Given the description of an element on the screen output the (x, y) to click on. 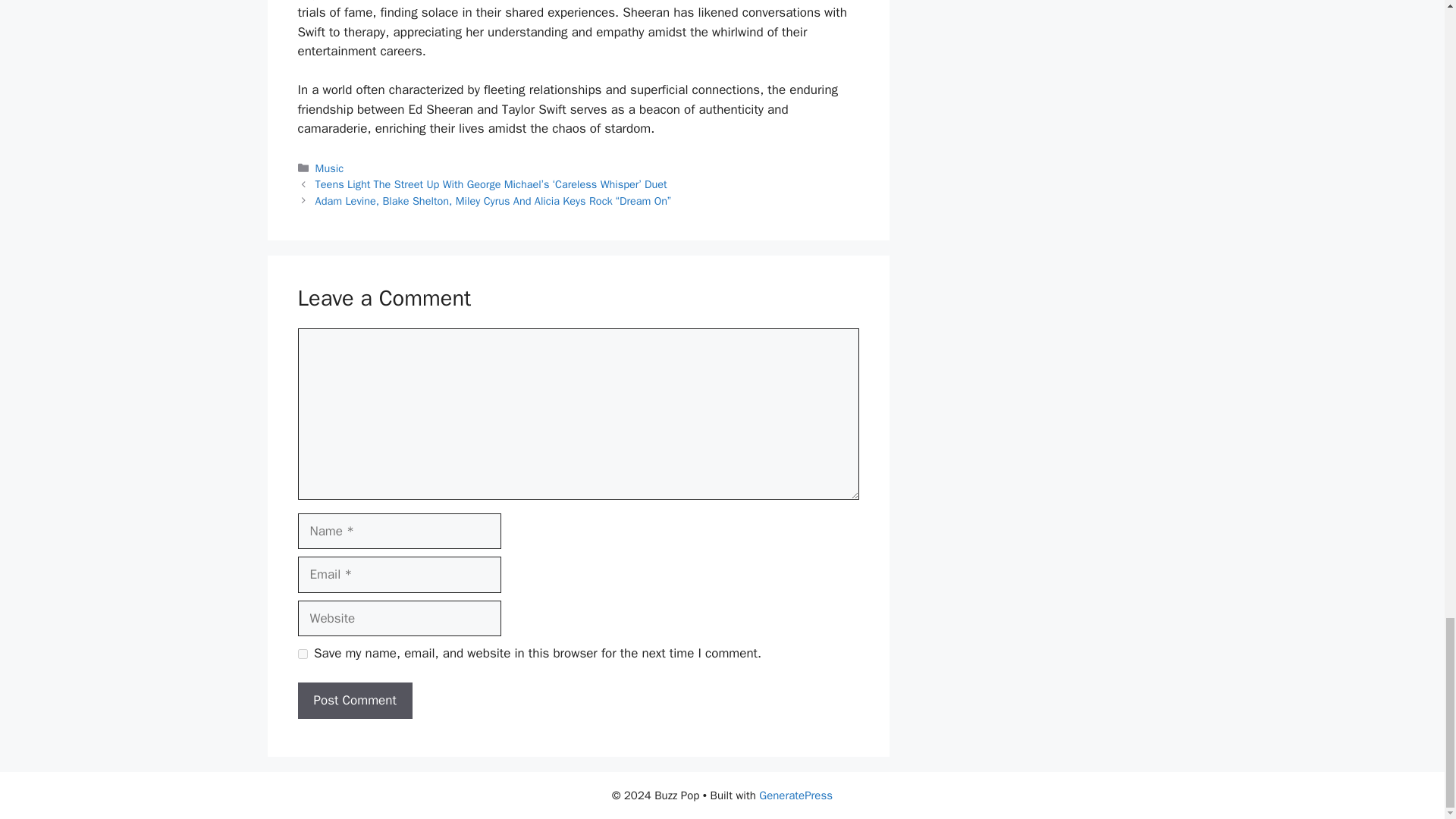
GeneratePress (795, 795)
yes (302, 654)
Post Comment (354, 700)
Post Comment (354, 700)
Music (329, 168)
